Given the description of an element on the screen output the (x, y) to click on. 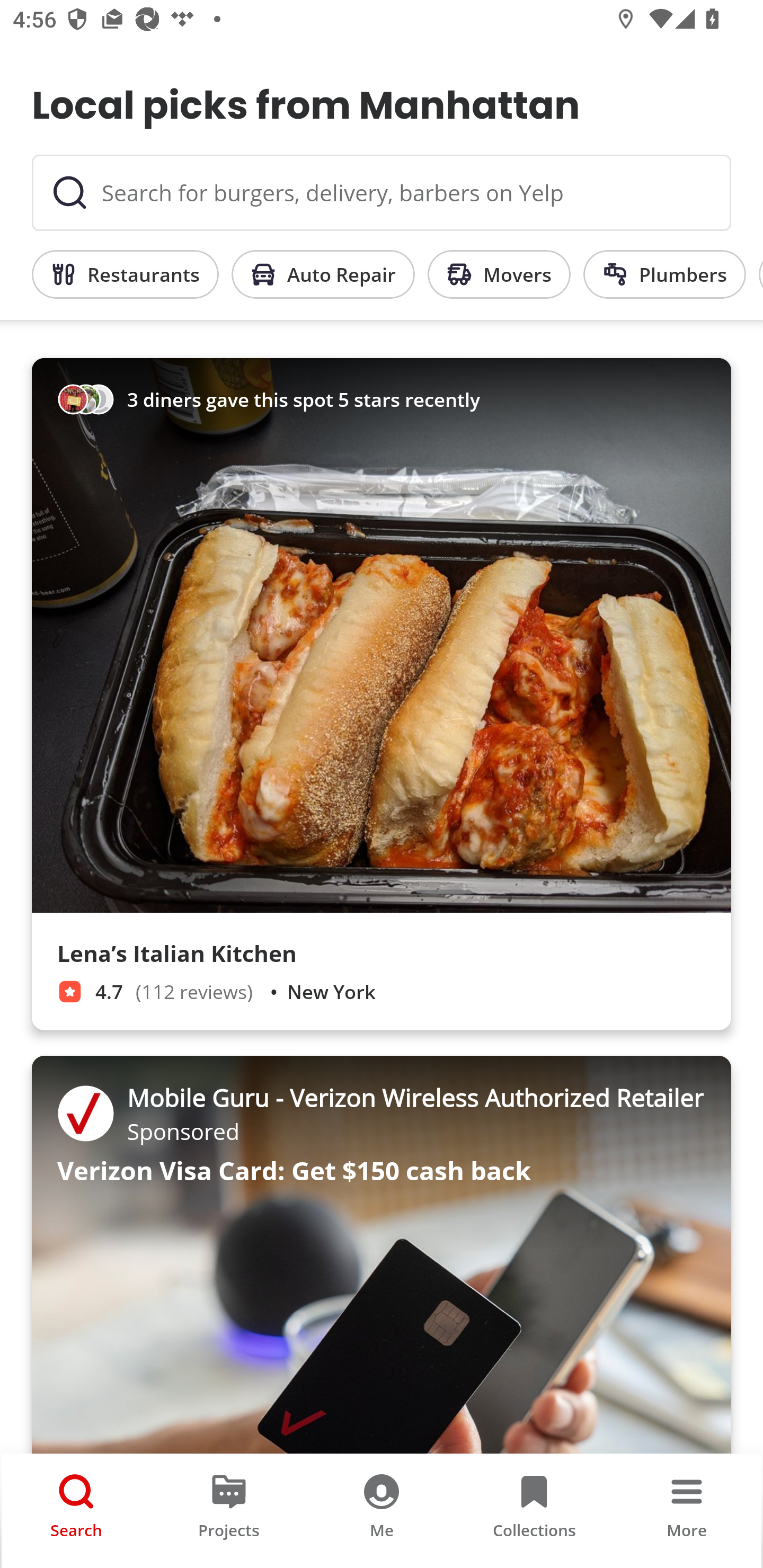
Movers (498, 274)
